Given the description of an element on the screen output the (x, y) to click on. 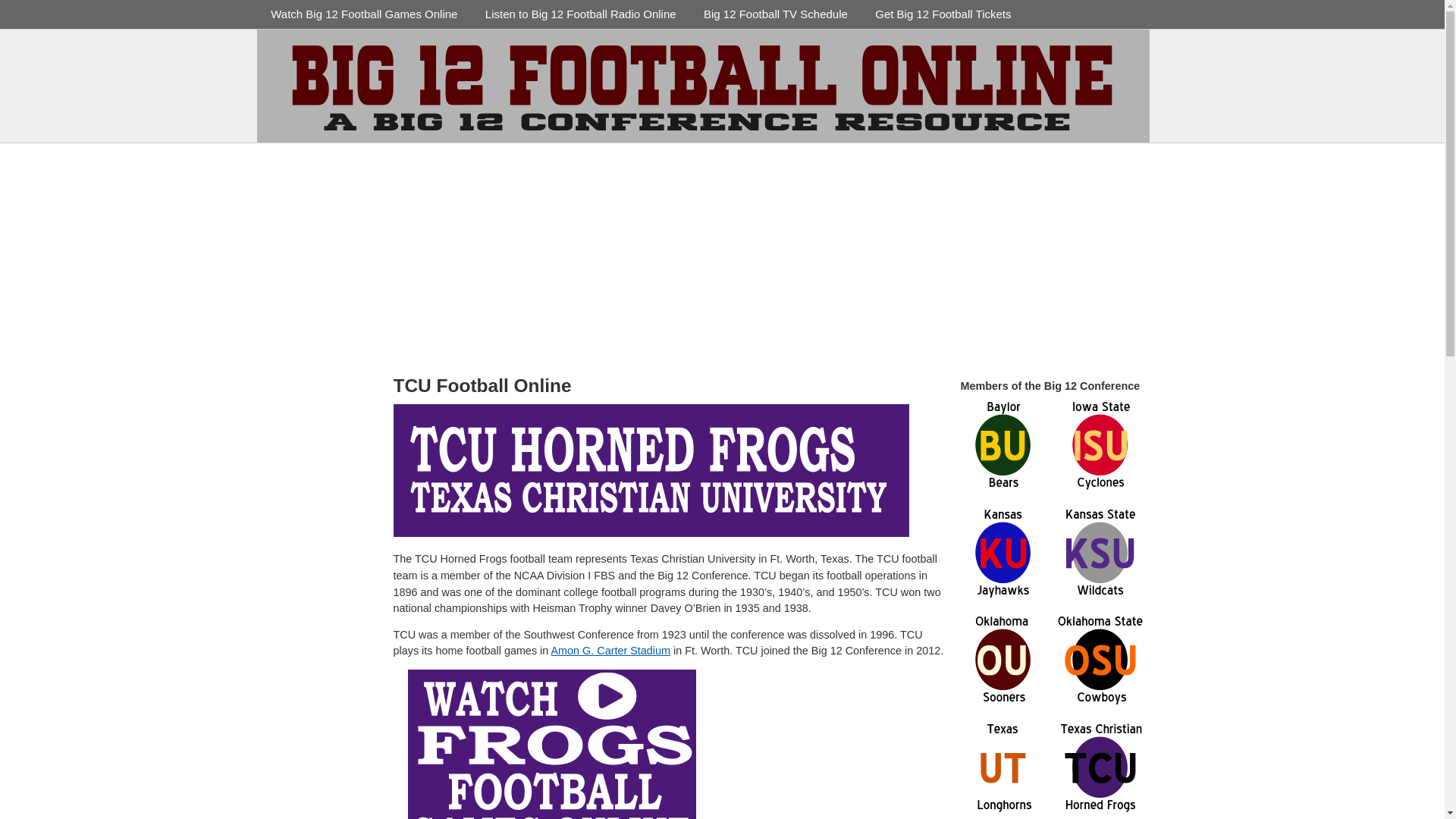
Big 12 Football TV Schedule (775, 14)
Advertisement (816, 744)
Listen to Big 12 Football Radio Online (580, 14)
Big 12 Football TV Schedule (775, 14)
Watch Big 12 Football Games Online (364, 14)
Big 12 Football Tickets (943, 14)
Permalink to TCU Football Online (481, 384)
Big 12 Football Online (1281, 46)
Listen to Big 12 Football Radio Online (580, 14)
